Given the description of an element on the screen output the (x, y) to click on. 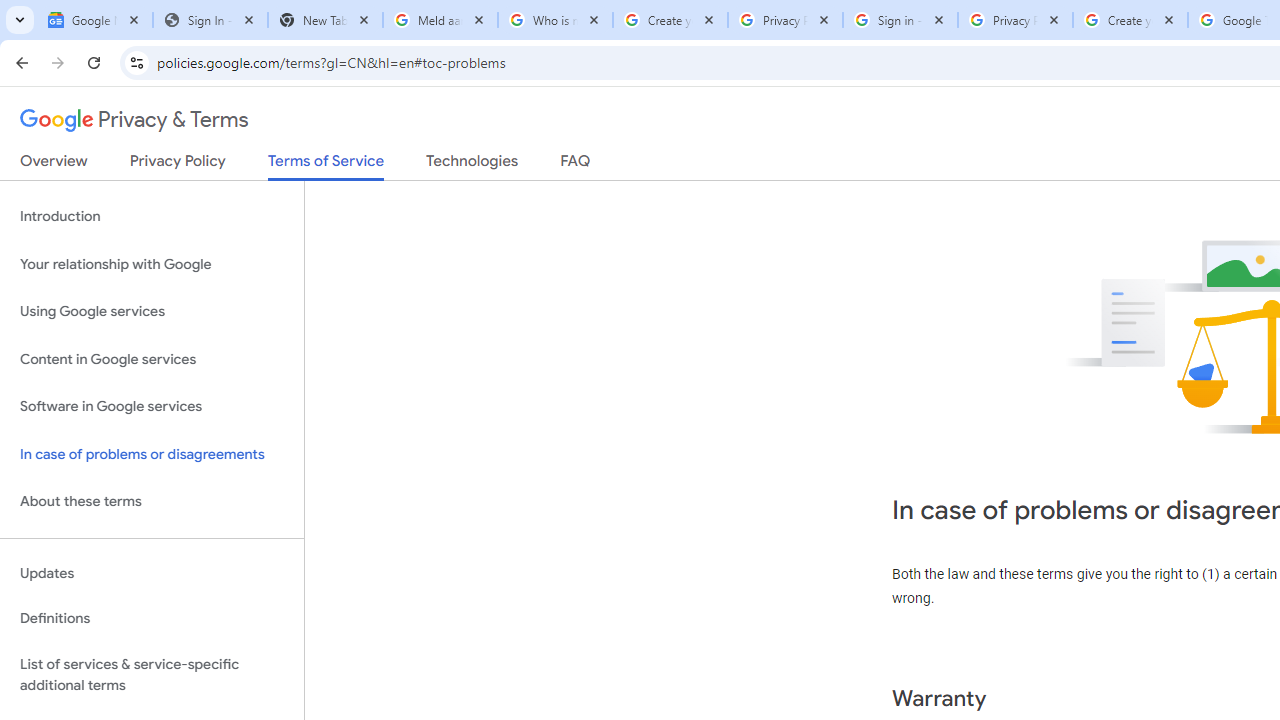
Updates (152, 573)
Create your Google Account (670, 20)
Privacy Policy (177, 165)
Google News (95, 20)
Definitions (152, 619)
Who is my administrator? - Google Account Help (555, 20)
Using Google services (152, 312)
Content in Google services (152, 358)
FAQ (575, 165)
Privacy & Terms (134, 120)
